Given the description of an element on the screen output the (x, y) to click on. 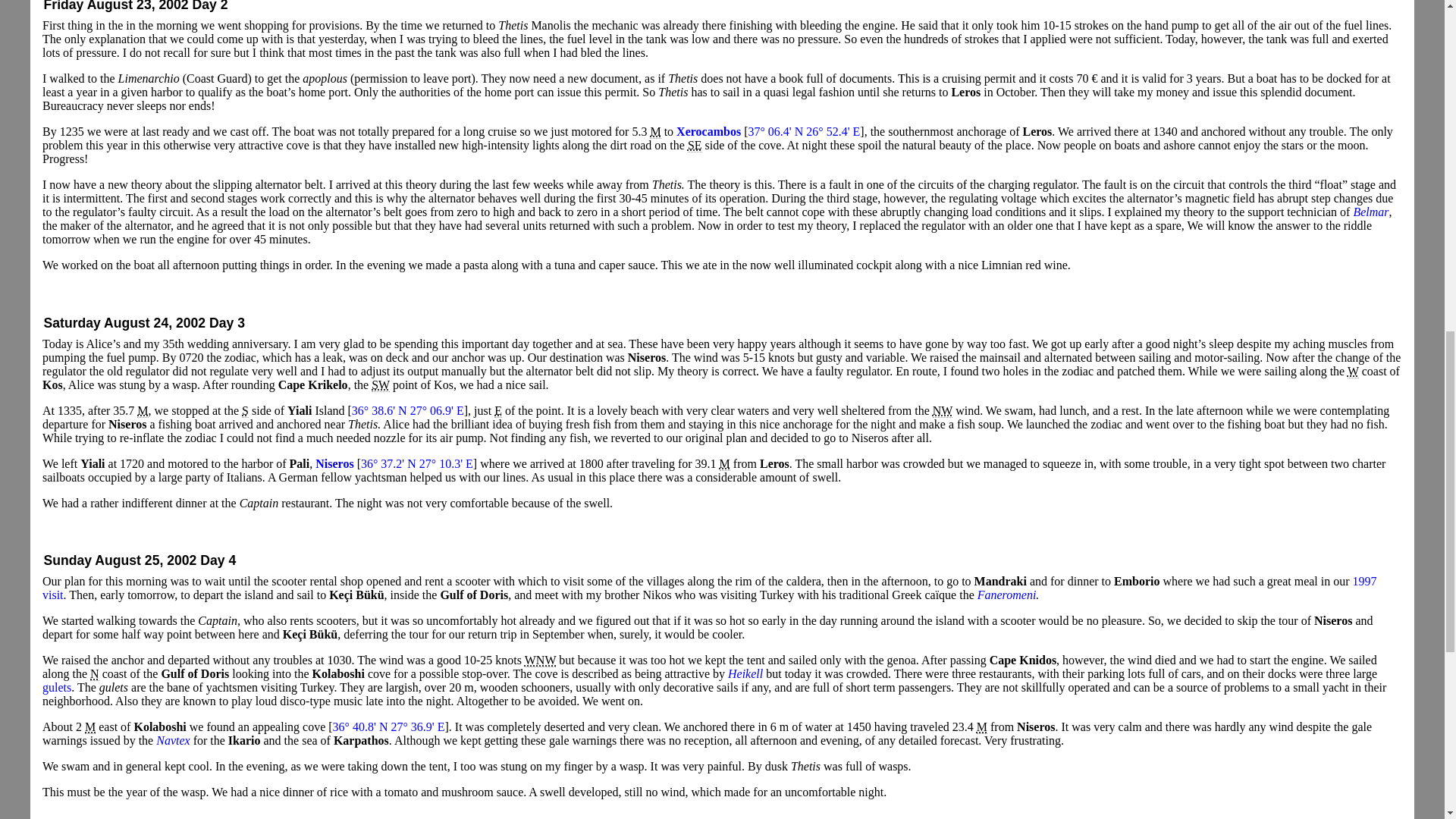
1997 visit (709, 587)
Faneromeni (1006, 594)
South East (694, 145)
South West (380, 385)
Xerocambos (709, 131)
West North West (540, 660)
Niseros (335, 463)
North West (942, 410)
Belmar (1370, 211)
